Given the description of an element on the screen output the (x, y) to click on. 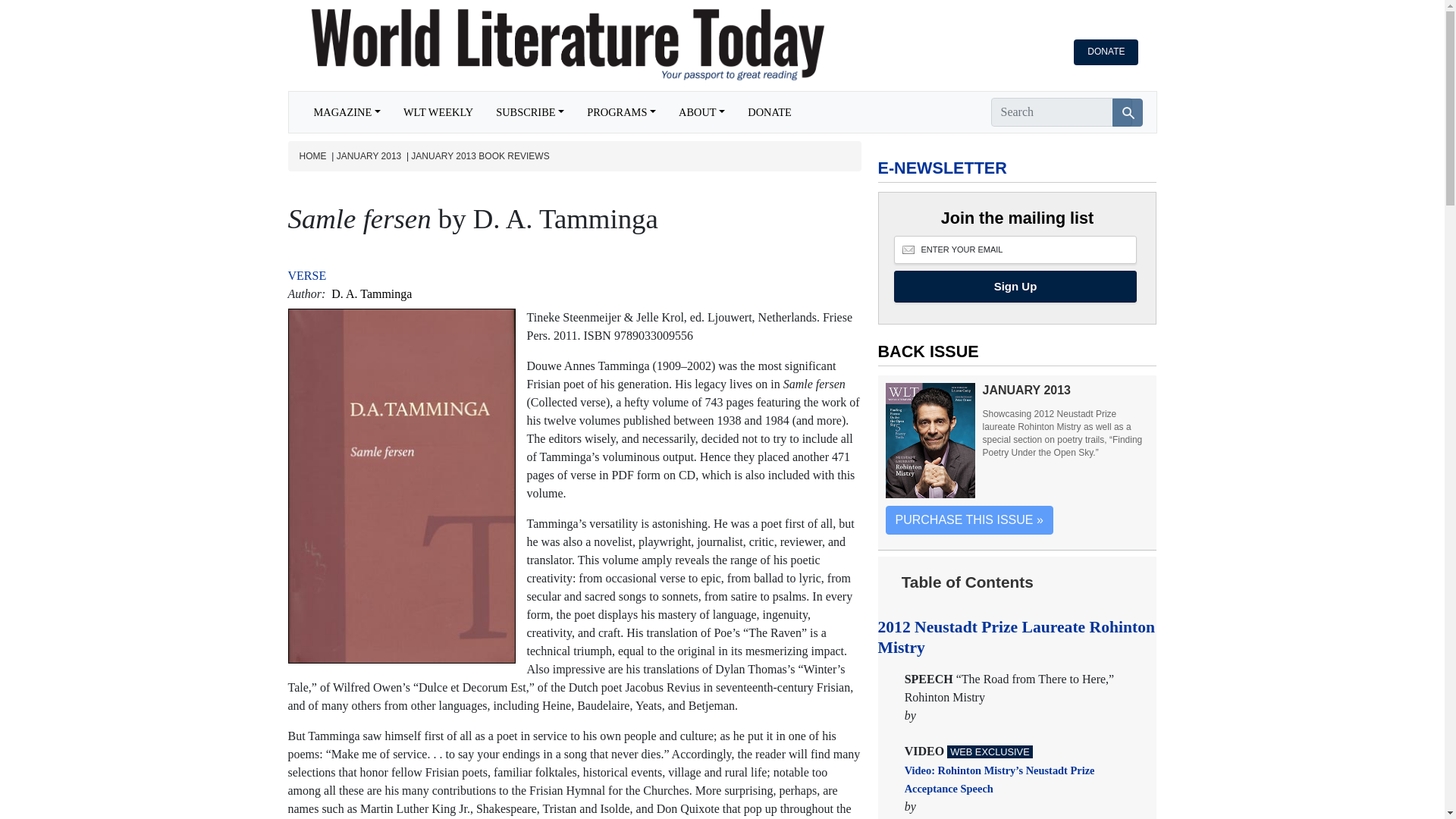
Expand menu Programs (620, 111)
PROGRAMS (620, 111)
WLT WEEKLY (437, 111)
DONATE (1106, 52)
Sign Up (1015, 286)
Expand menu About (701, 111)
Search (1126, 112)
JANUARY 2013 (368, 156)
MAGAZINE (346, 111)
SUBSCRIBE (529, 111)
HOME (312, 156)
Expand menu Subscribe (529, 111)
Home (554, 45)
Expand menu Magazine (346, 111)
DONATE (769, 111)
